Given the description of an element on the screen output the (x, y) to click on. 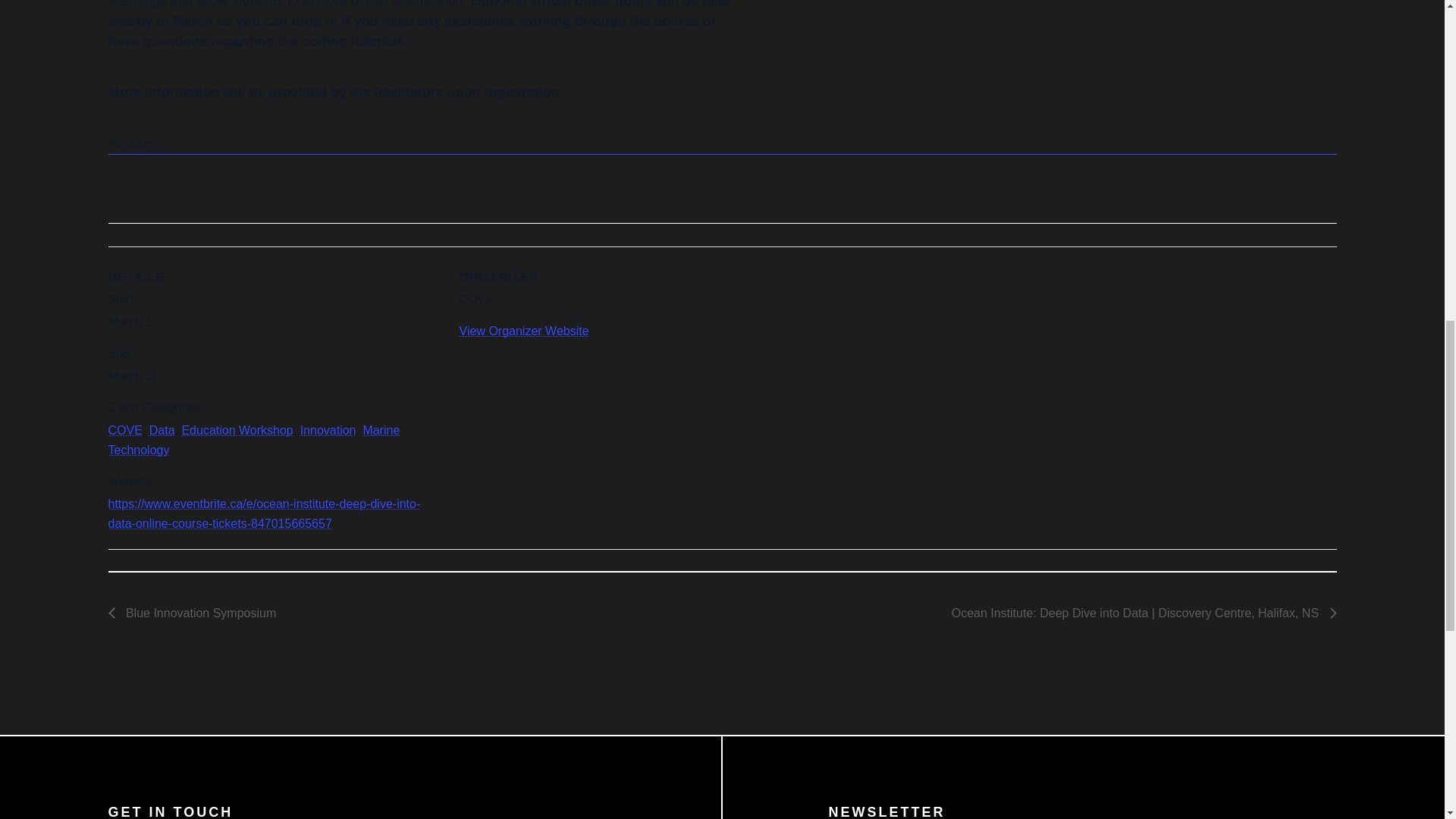
2024-03-31 (132, 376)
Data (161, 430)
Register (721, 143)
COVE (124, 430)
2024-03-01 (129, 321)
Innovation (327, 430)
Education Workshop (236, 430)
View Organizer Website (524, 330)
Marine Technology (252, 440)
